Given the description of an element on the screen output the (x, y) to click on. 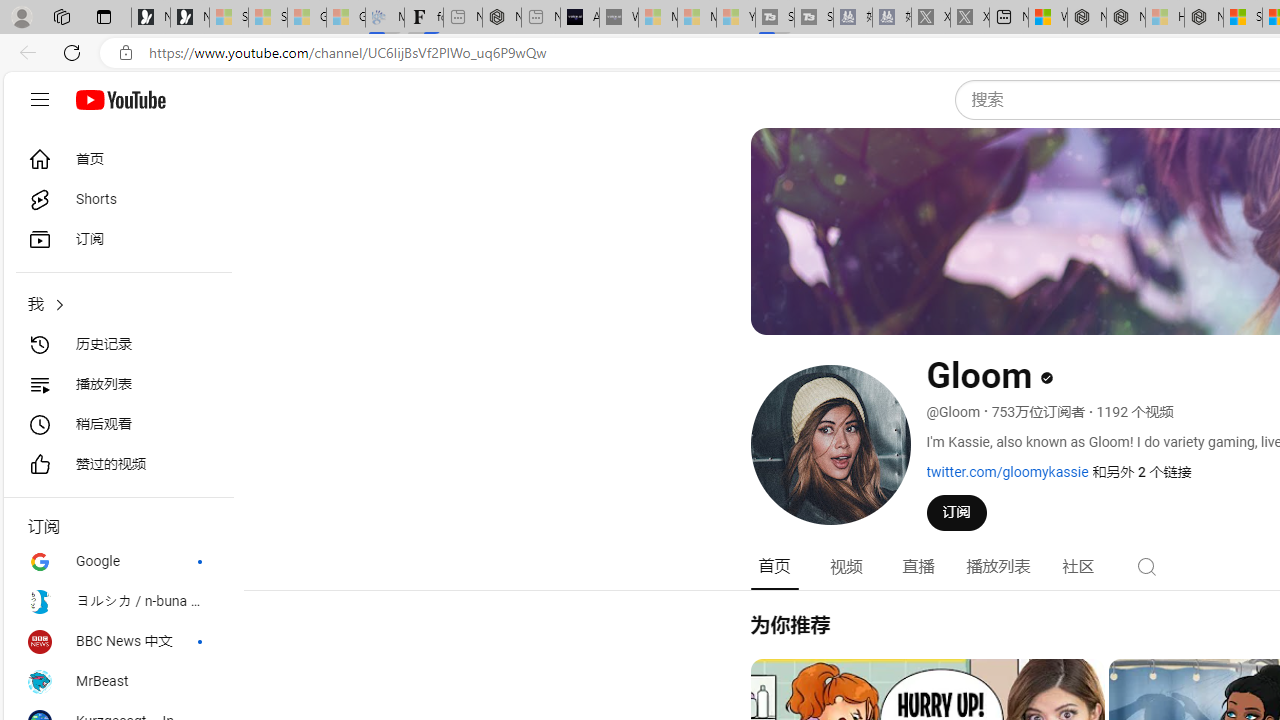
twitter.com/gloomykassie (1007, 471)
